Given the description of an element on the screen output the (x, y) to click on. 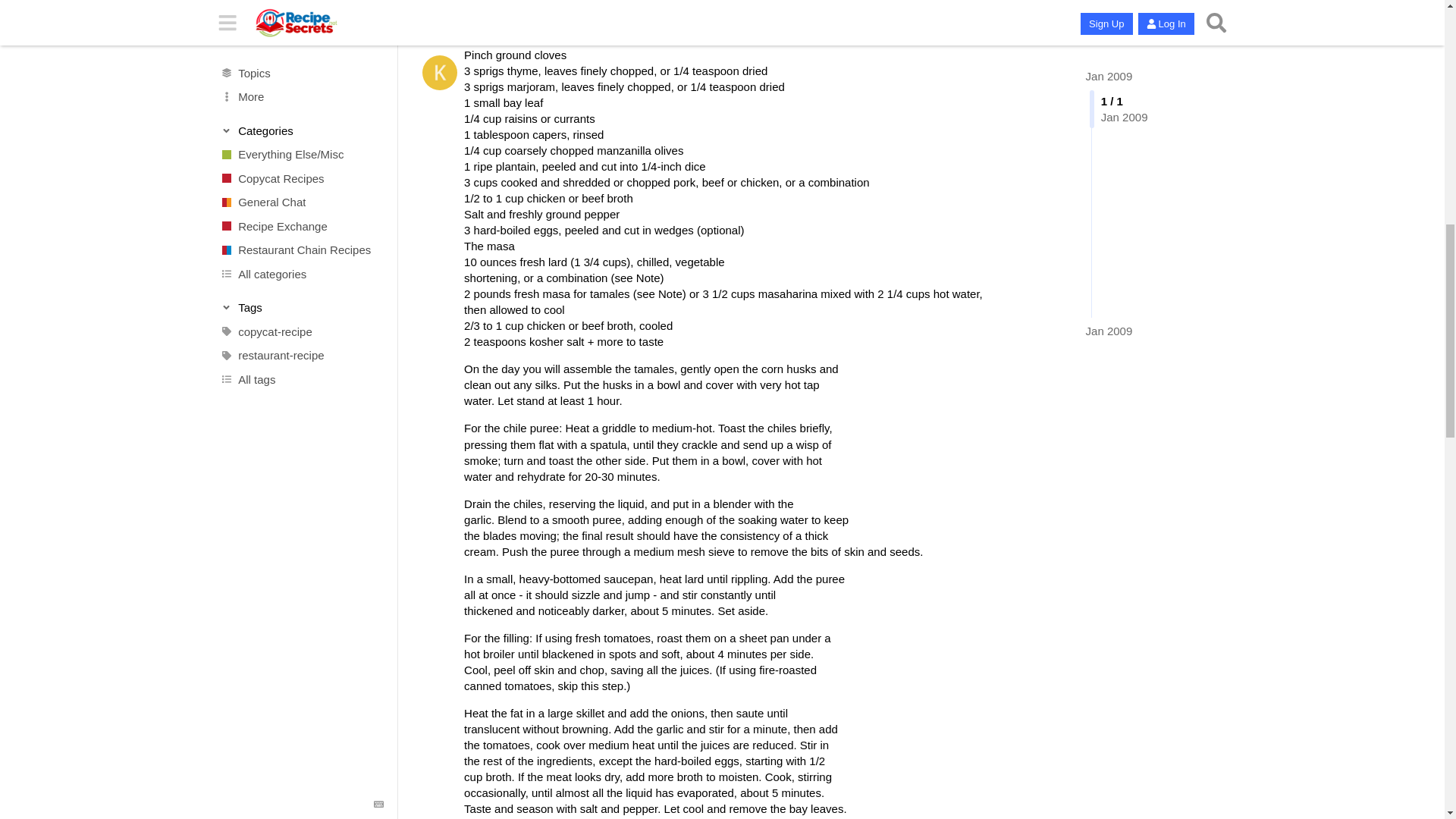
Lasagna-cook-book.pdf (498, 90)
Jan 2009 (1109, 2)
brownies-cook-book-233.pdf (510, 45)
